Given the description of an element on the screen output the (x, y) to click on. 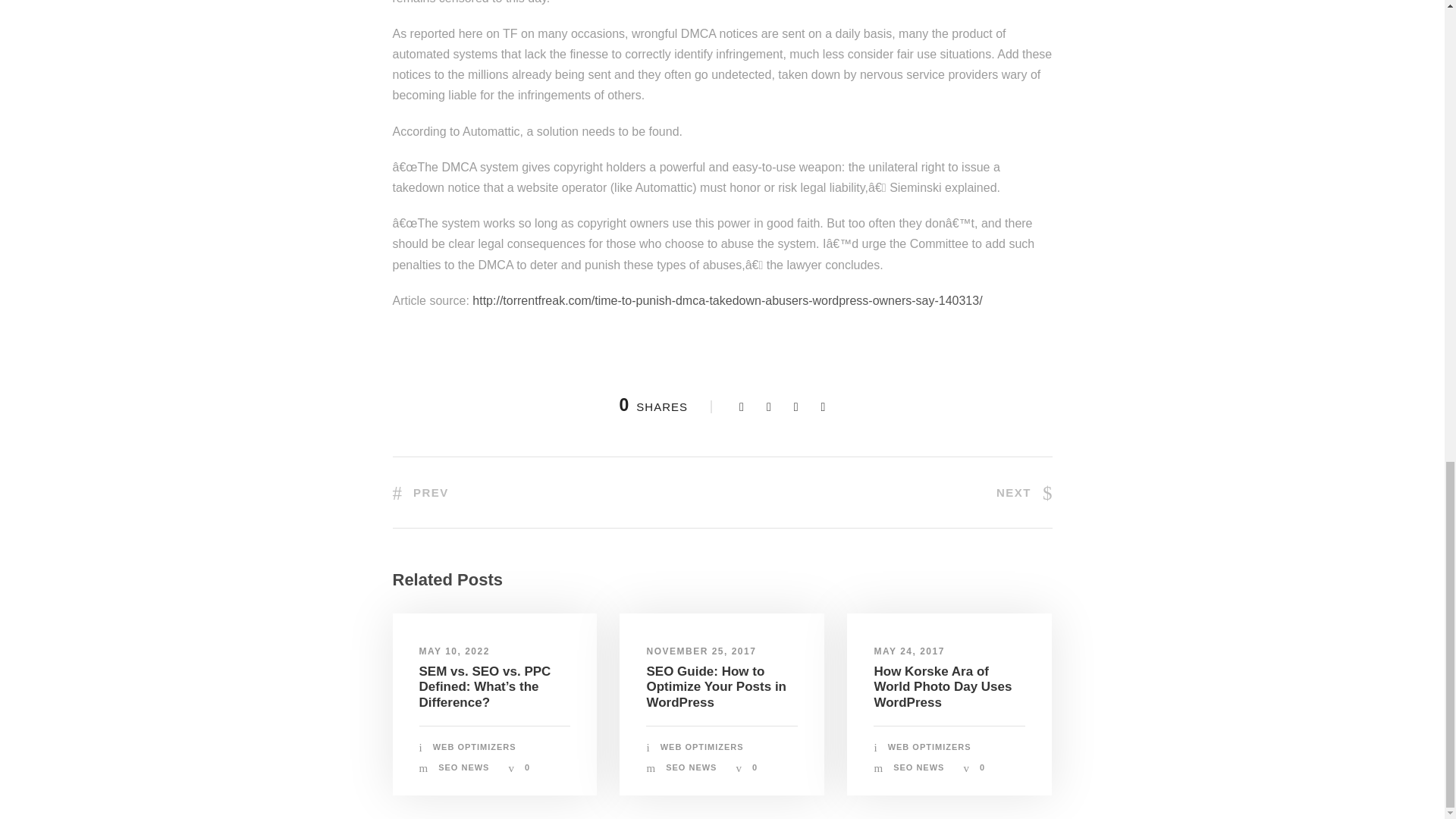
SEO NEWS (690, 767)
Posts by Web Optimizers (929, 746)
WEB OPTIMIZERS (702, 746)
NEXT (1023, 492)
MAY 24, 2017 (908, 651)
NOVEMBER 25, 2017 (700, 651)
MAY 10, 2022 (454, 651)
PREV (420, 492)
SEO Guide: How to Optimize Your Posts in WordPress (716, 687)
WEB OPTIMIZERS (474, 746)
